Given the description of an element on the screen output the (x, y) to click on. 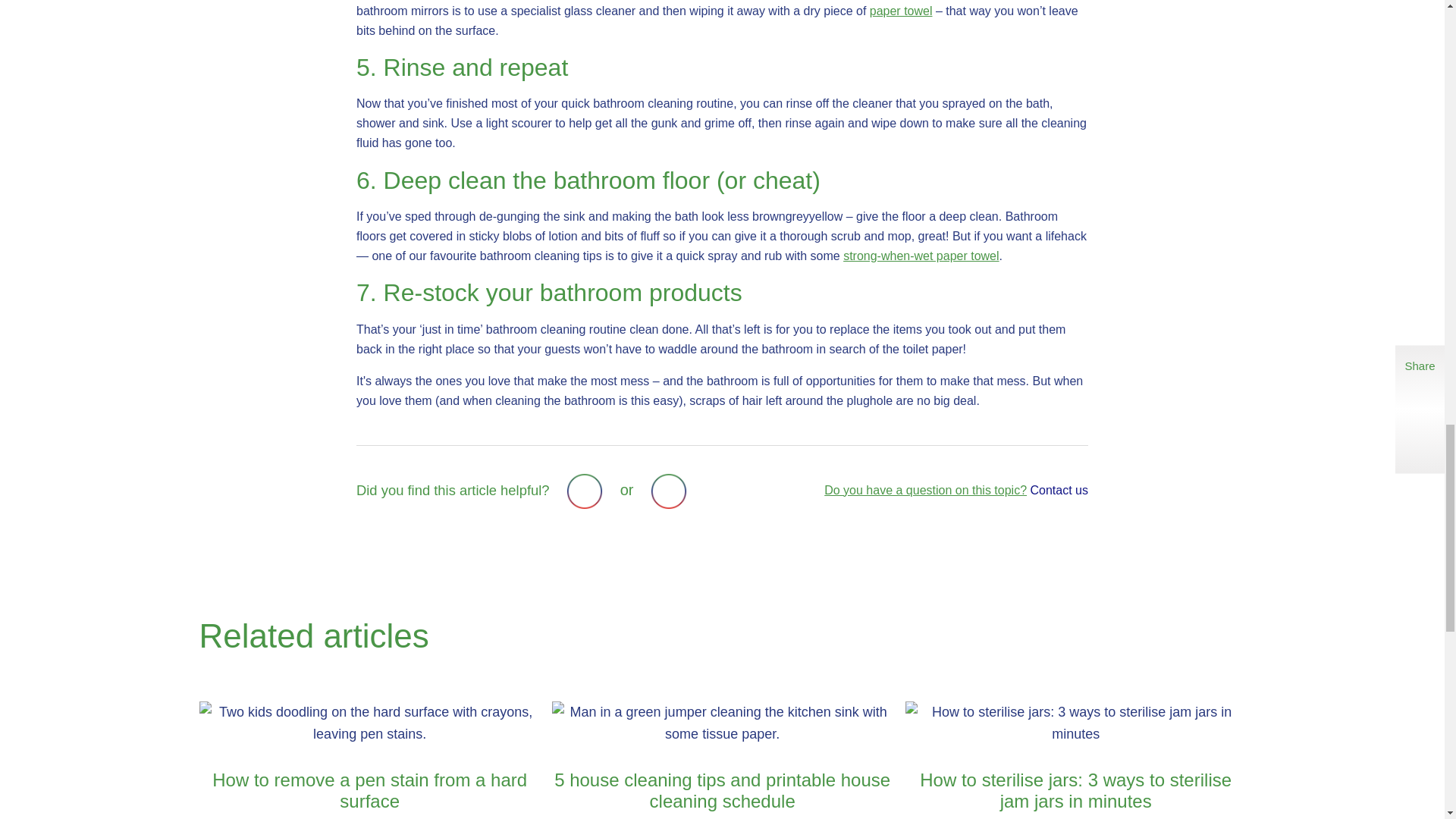
How to remove a pen stain from a hard surface (368, 760)
5 house cleaning tips and printable house cleaning schedule (721, 760)
Do you have a question on this topic? (925, 490)
Plenty Kitchen Towels (920, 255)
paper towel (901, 10)
strong-when-wet paper towel (920, 255)
